Given the description of an element on the screen output the (x, y) to click on. 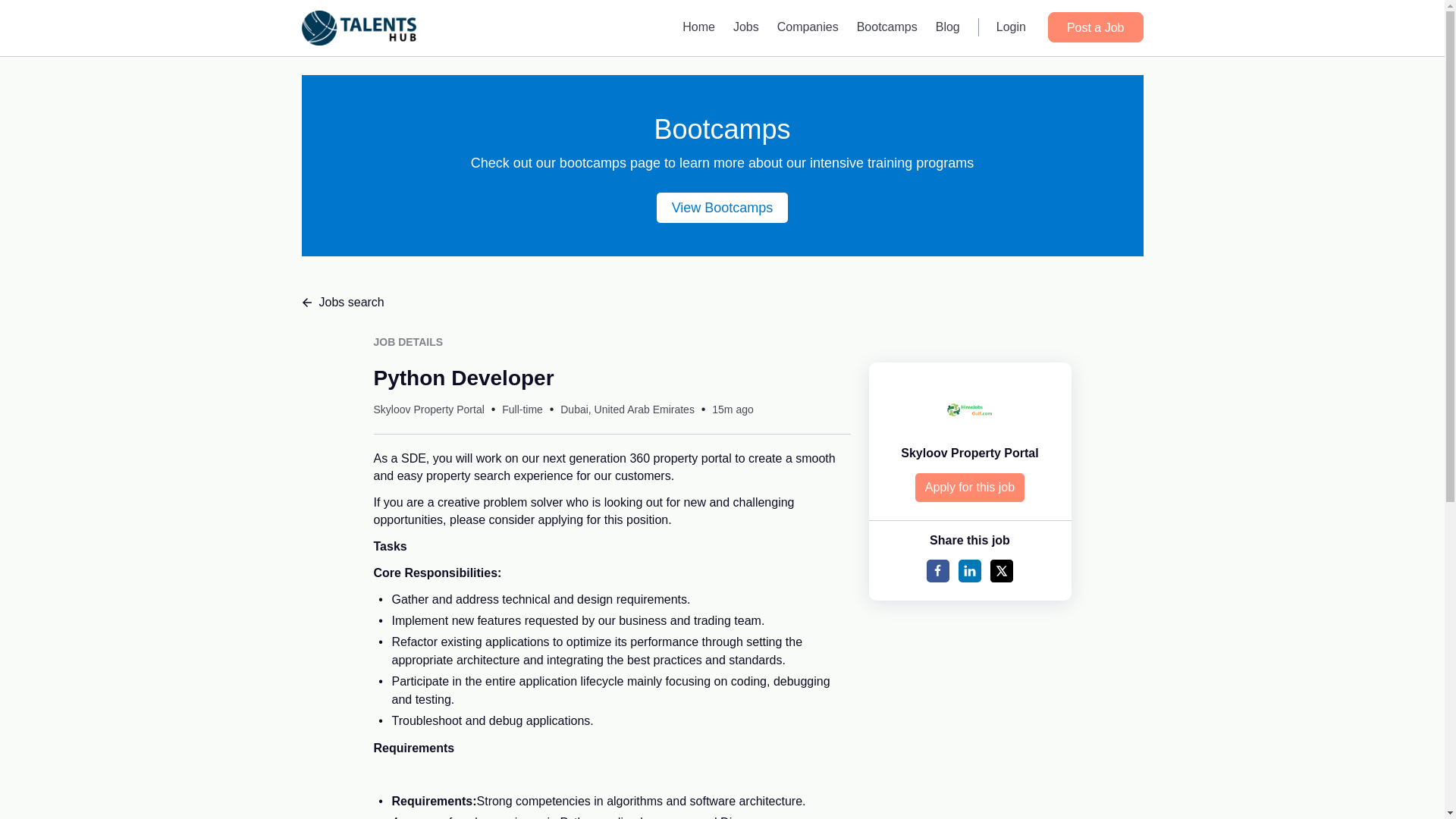
Share to FB (937, 570)
Post a Job (1095, 27)
Login (1011, 26)
Companies (807, 26)
Skyloov Property Portal (969, 452)
Share to Linkedin (969, 570)
View Bootcamps (722, 207)
Skyloov Property Portal (427, 409)
Blog (947, 26)
Full-time (522, 409)
